Given the description of an element on the screen output the (x, y) to click on. 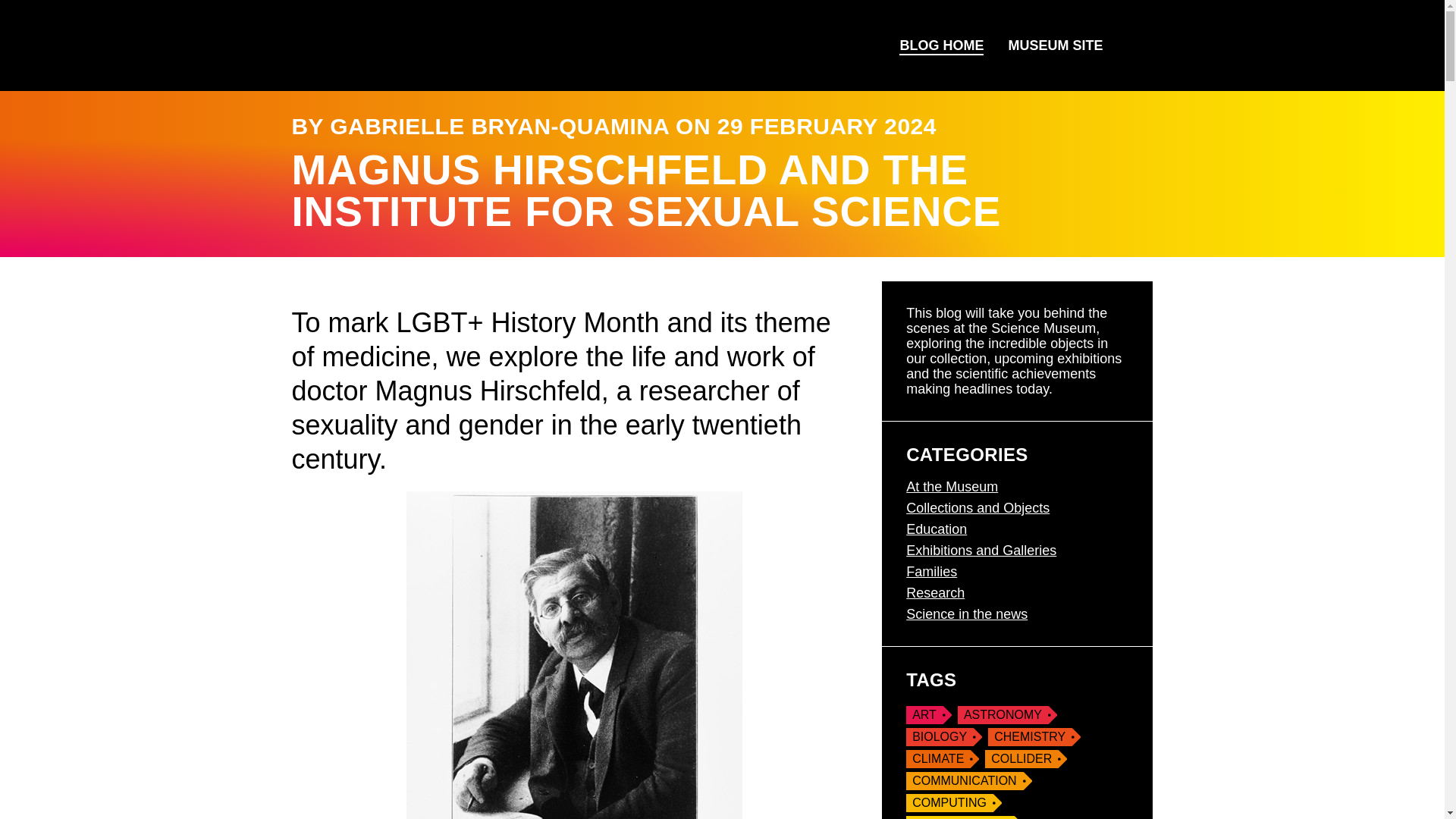
Science in the news (966, 613)
Education (935, 529)
CHEMISTRY (1034, 737)
OPEN SEARCH (1133, 45)
View all posts in Education (935, 529)
COLLIDER (1026, 759)
View all posts in Research (934, 592)
MUSEUM SITE (1055, 44)
ASTRONOMY (1007, 714)
Exhibitions and Galleries (981, 549)
